Given the description of an element on the screen output the (x, y) to click on. 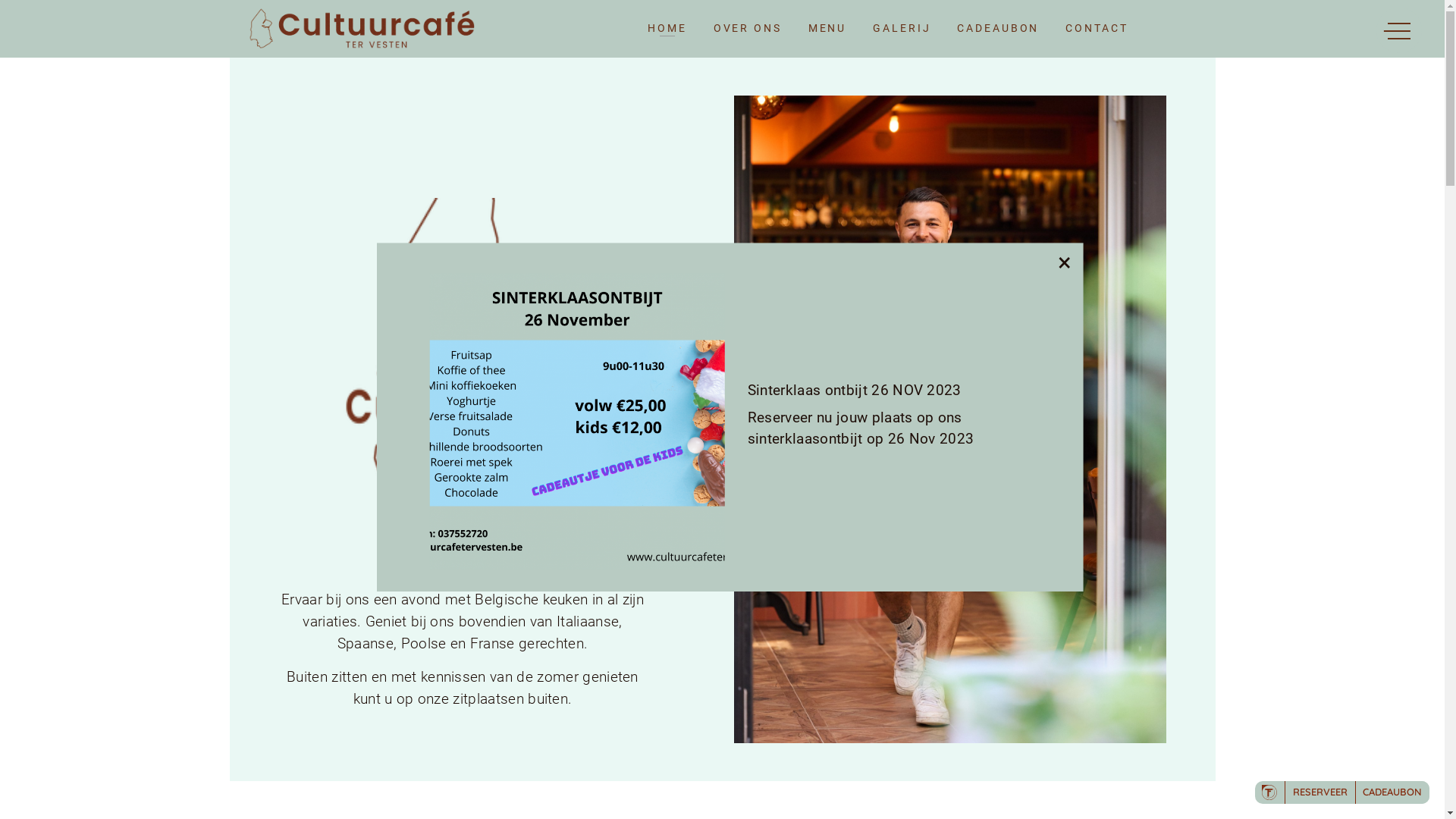
OVER ONS Element type: text (747, 28)
CONTACT Element type: text (1096, 28)
MENU Element type: text (827, 28)
GALERIJ Element type: text (901, 28)
HOME Element type: text (667, 28)
CADEAUBON Element type: text (997, 28)
